Given the description of an element on the screen output the (x, y) to click on. 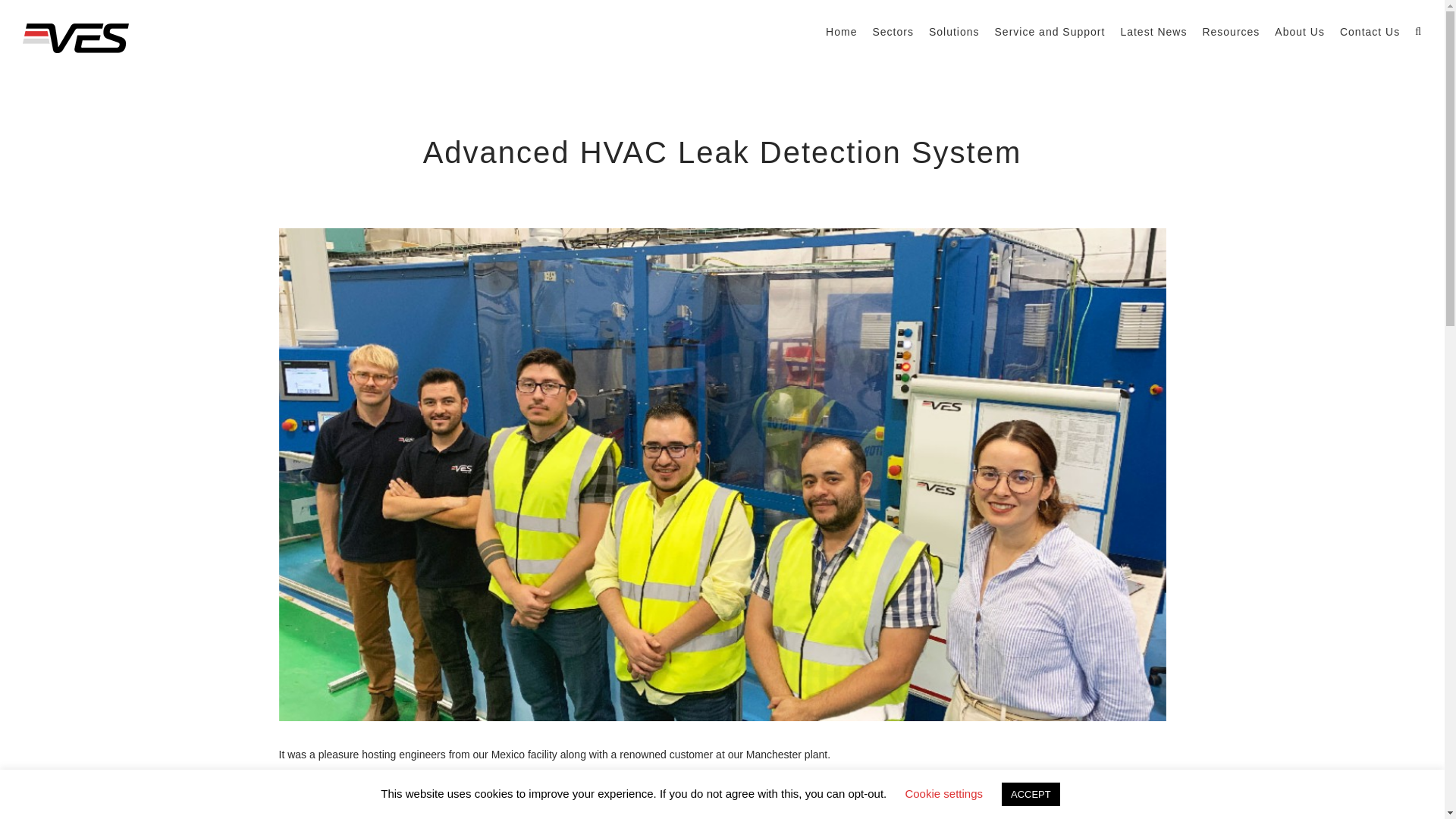
Resources (1230, 31)
Contact Us (1369, 31)
Latest News (1152, 31)
Service and Support (1049, 31)
